Given the description of an element on the screen output the (x, y) to click on. 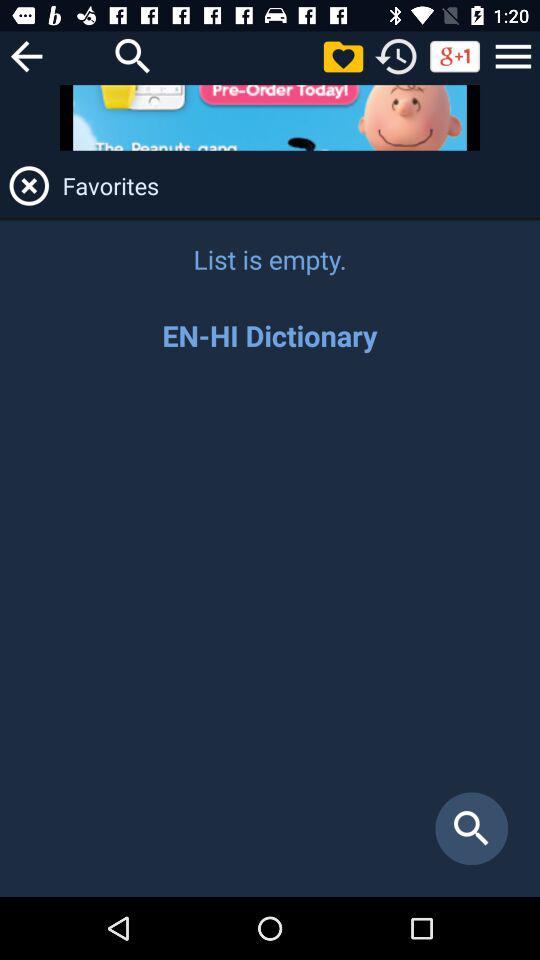
go to your favorite folder (343, 56)
